Given the description of an element on the screen output the (x, y) to click on. 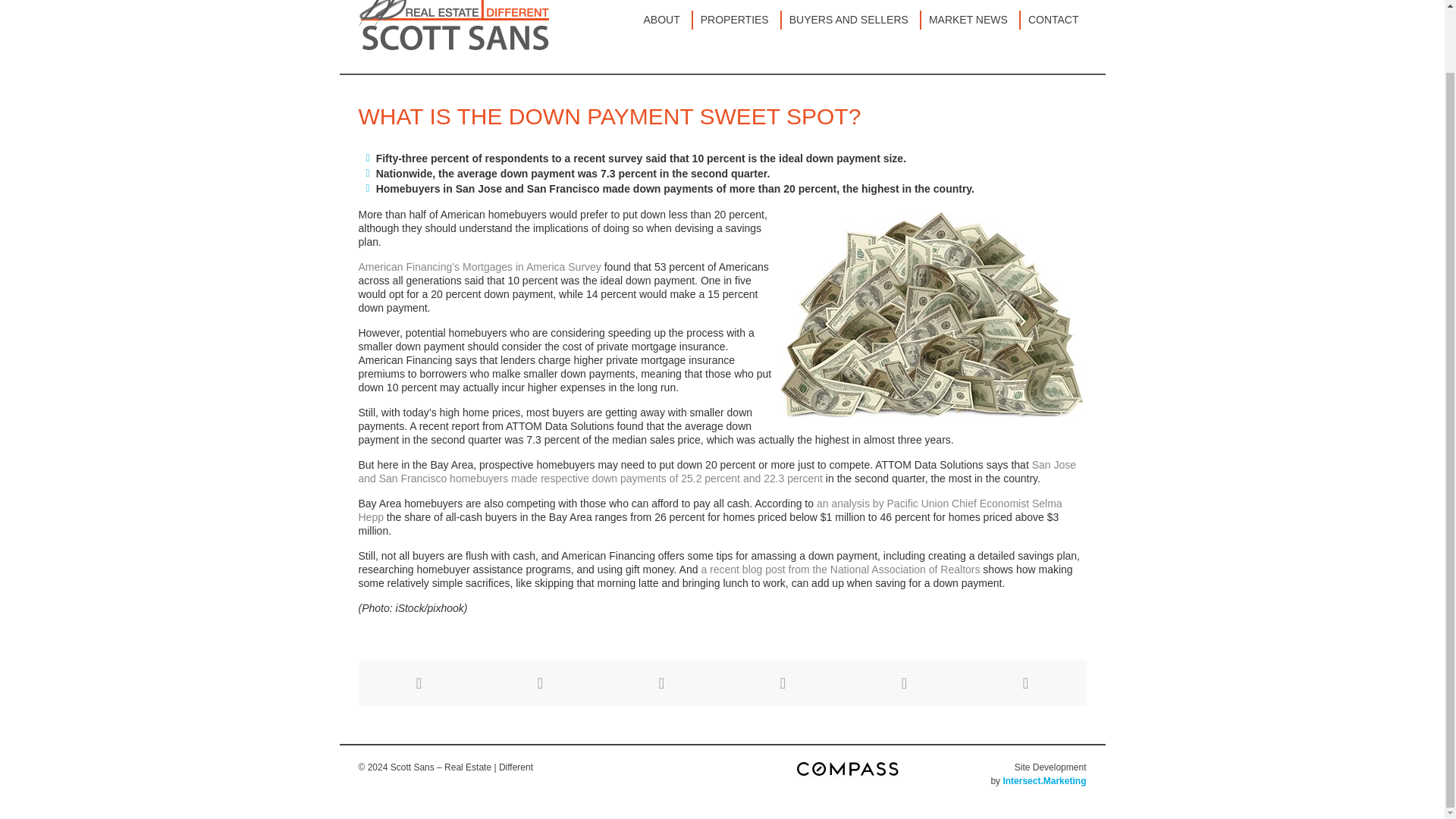
MARKET NEWS (970, 19)
BUYERS AND SELLERS (851, 19)
CONTACT (1053, 19)
ABOUT (663, 19)
PROPERTIES (737, 19)
Intersect.Marketing (1044, 780)
an analysis by Pacific Union Chief Economist Selma Hepp (709, 510)
a recent blog post from the National Association of Realtors (839, 569)
